Given the description of an element on the screen output the (x, y) to click on. 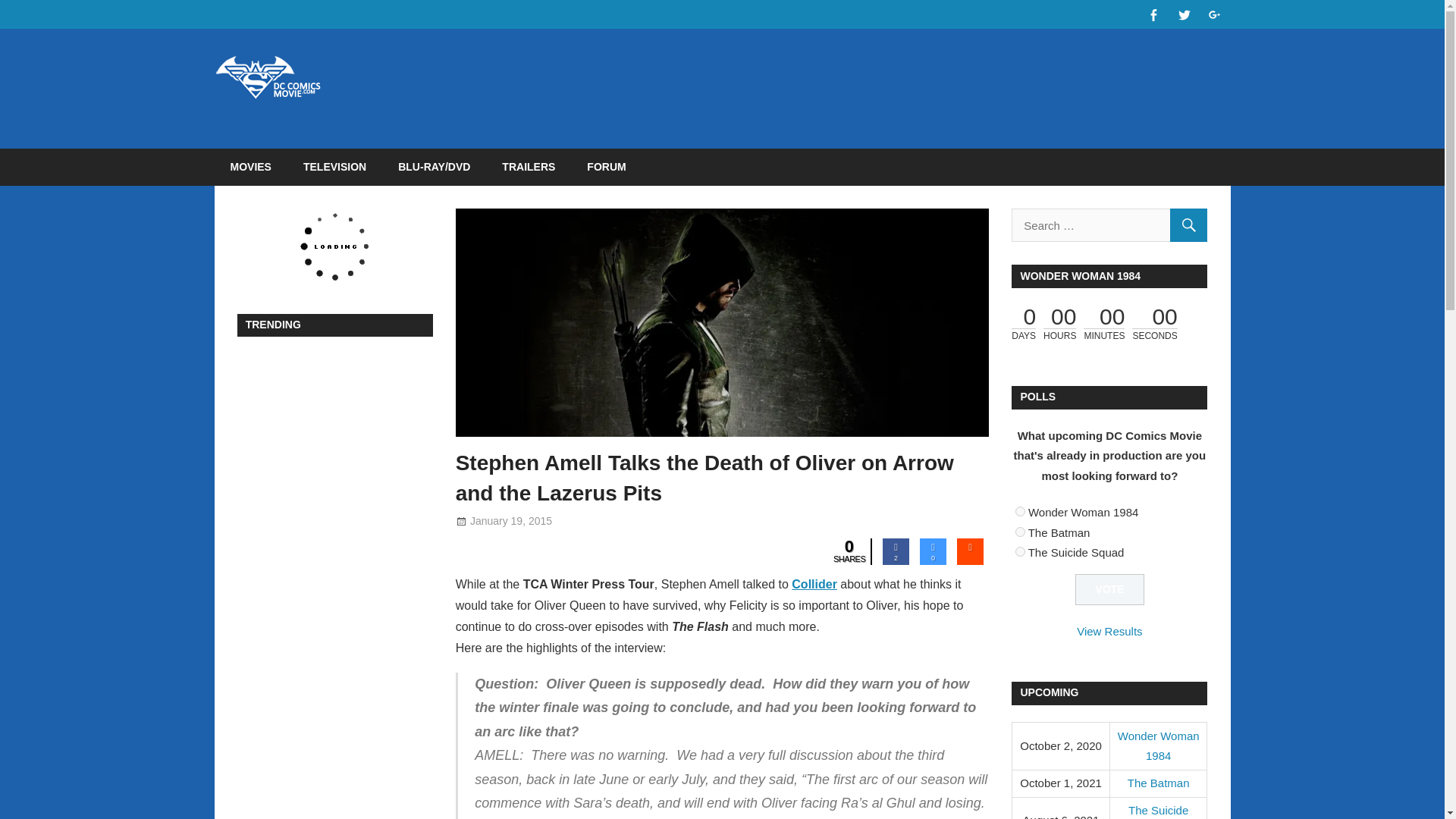
7:14 PM (510, 521)
Collider (814, 584)
TRAILERS (528, 167)
FORUM (606, 167)
Television (668, 521)
News (625, 521)
   Vote    (1109, 589)
84 (1019, 551)
View all posts by Arelis (592, 521)
82 (1019, 511)
